Given the description of an element on the screen output the (x, y) to click on. 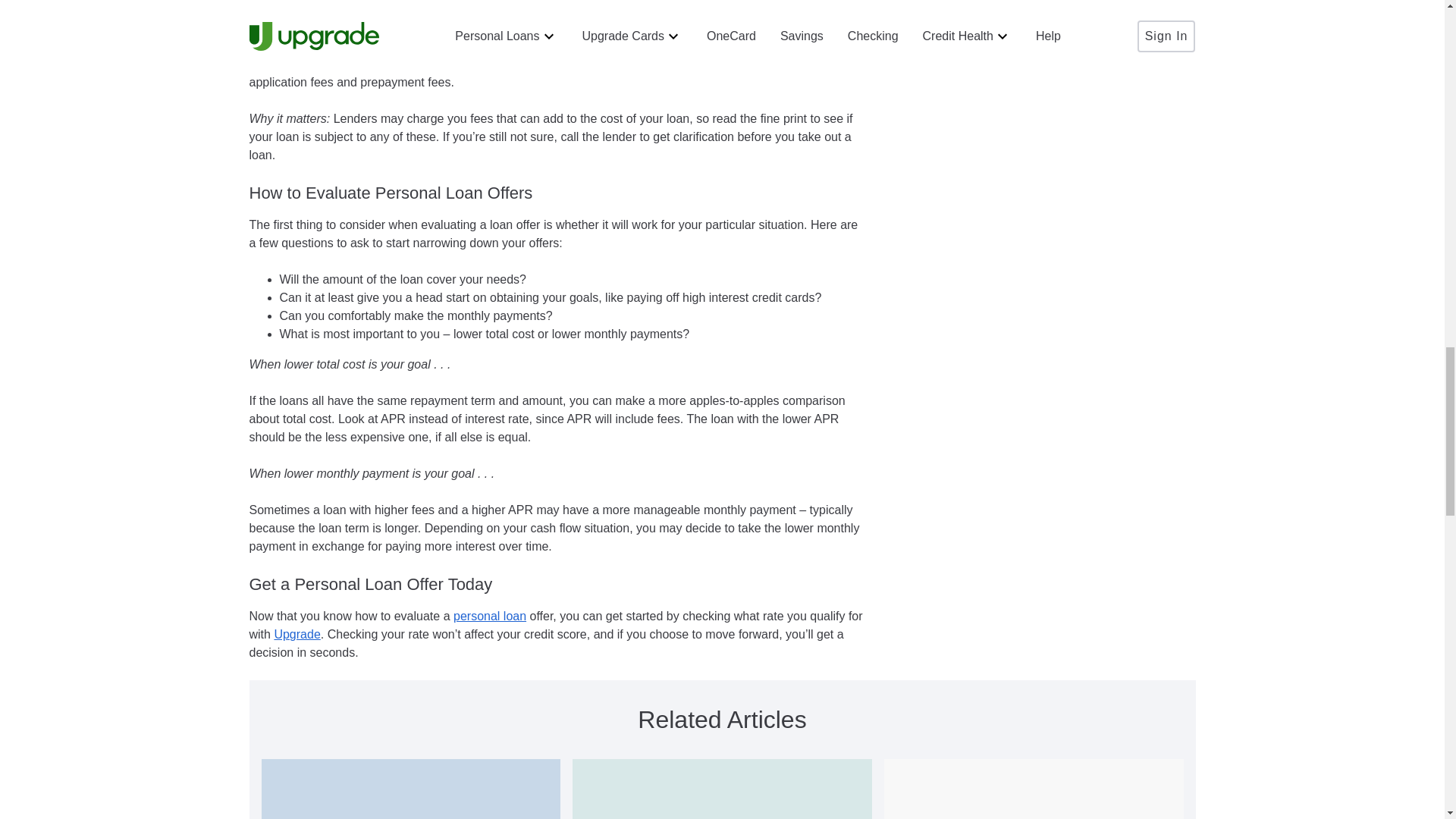
personal loan (488, 615)
Upgrade (296, 634)
